Given the description of an element on the screen output the (x, y) to click on. 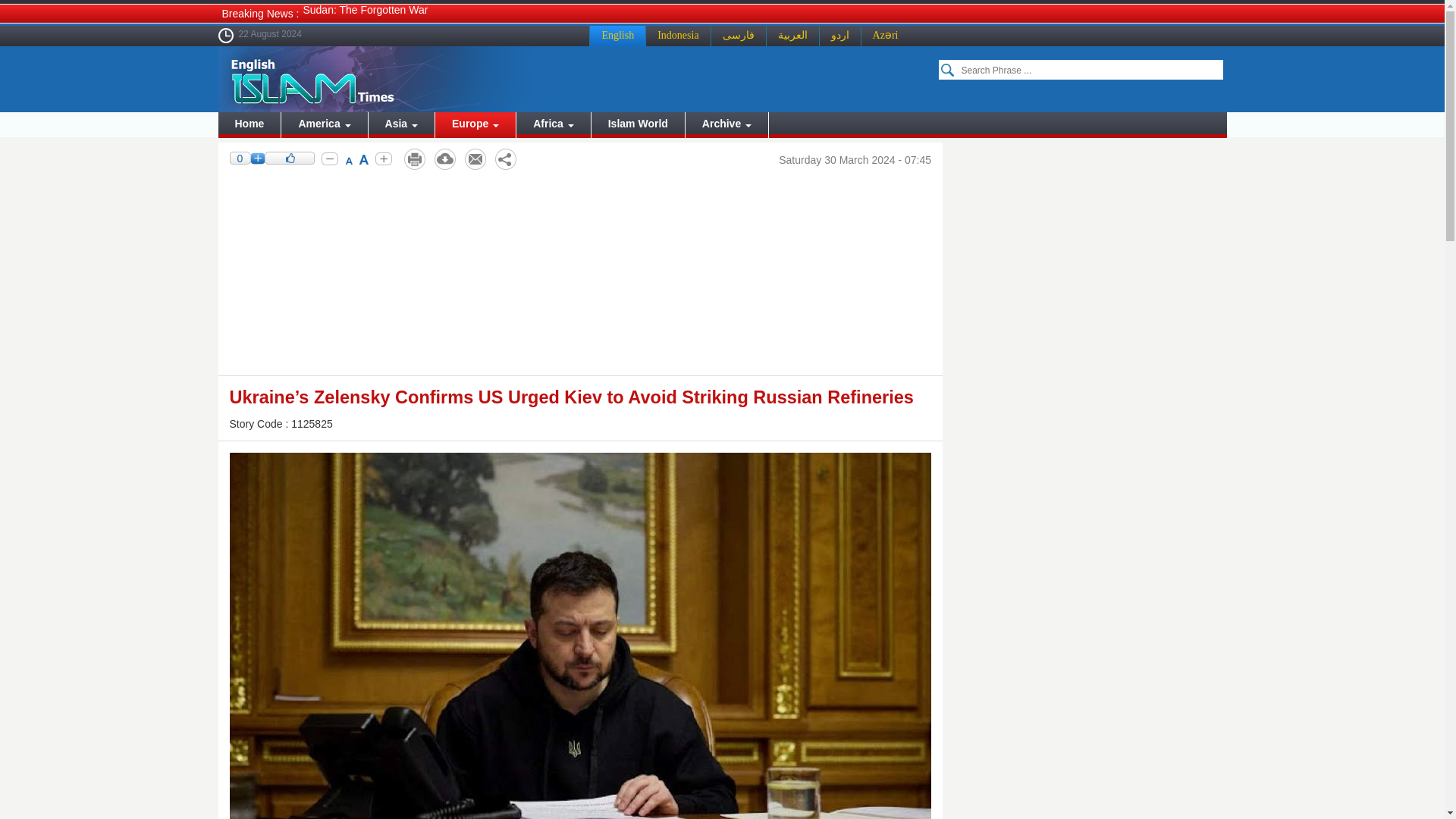
Downloading the File (444, 159)
Sudan: The Forgotten War (365, 9)
Indonesia (677, 35)
Print Edition (414, 159)
Home (249, 125)
There's No Safe Zone in Palestine (383, 28)
English (617, 35)
America (323, 125)
Send to a Friend (475, 159)
